Given the description of an element on the screen output the (x, y) to click on. 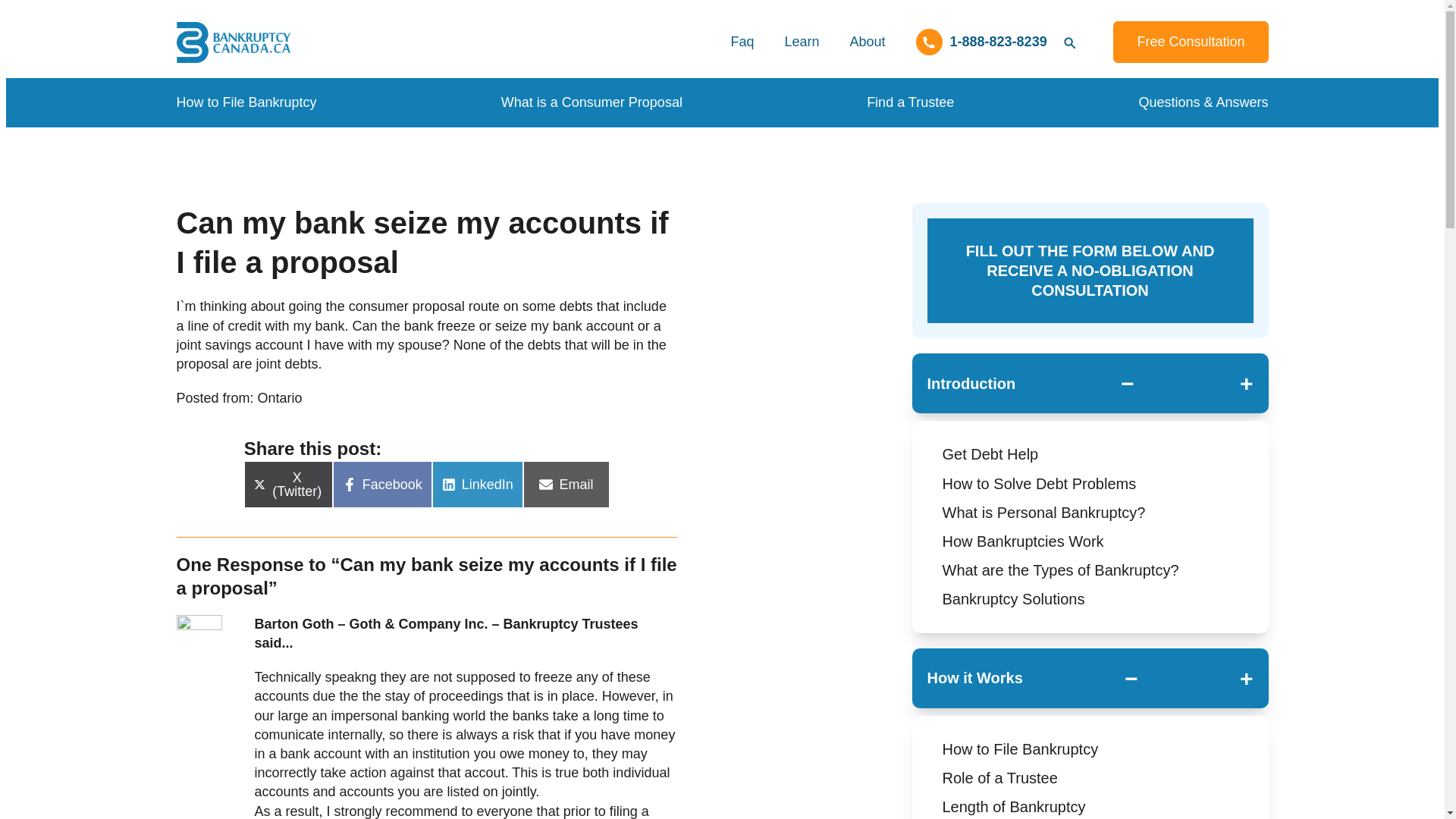
Faq (741, 41)
About (866, 41)
1-888-823-8239 (980, 41)
Learn (801, 41)
